Given the description of an element on the screen output the (x, y) to click on. 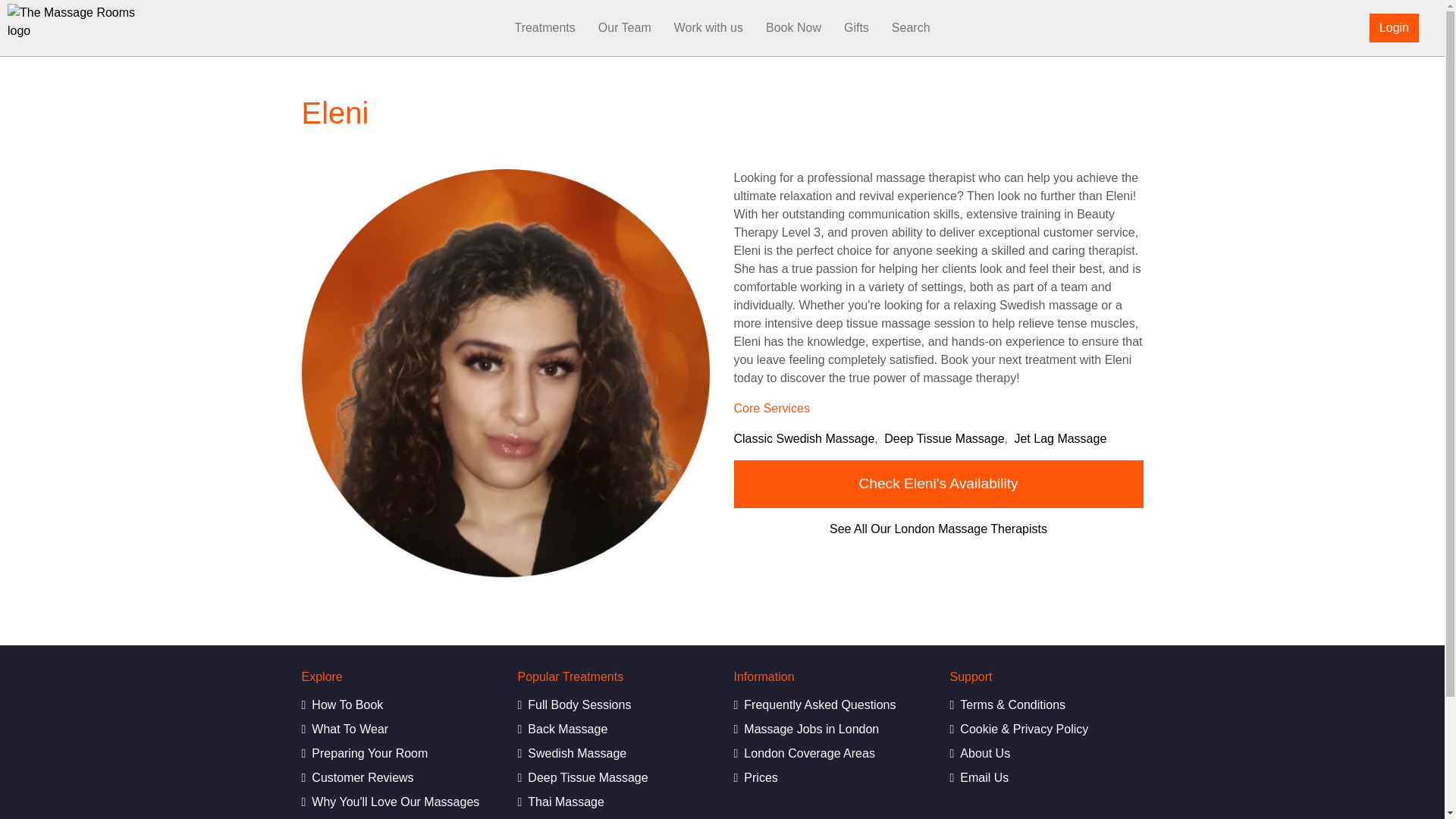
Customer Feedback (398, 778)
London Massage Coverage Areas (830, 753)
Thai Massage (613, 802)
About Us (1045, 753)
Thai Massage (613, 802)
Email Us (1045, 778)
How To Book A Mobile Massage (398, 705)
See All Our London Massage Therapists (937, 528)
Work with us (708, 28)
